Given the description of an element on the screen output the (x, y) to click on. 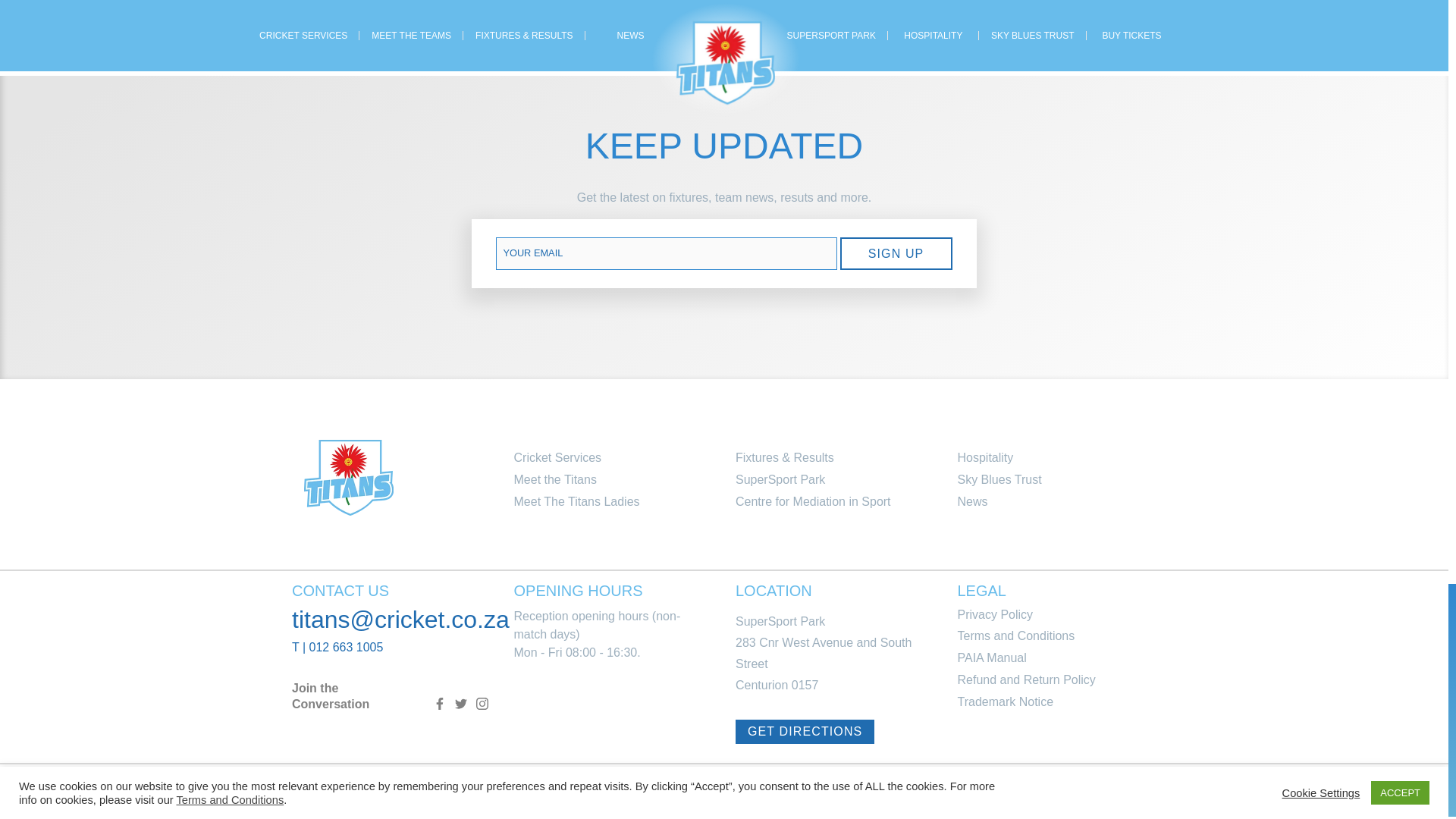
SIGN UP (896, 253)
